Given the description of an element on the screen output the (x, y) to click on. 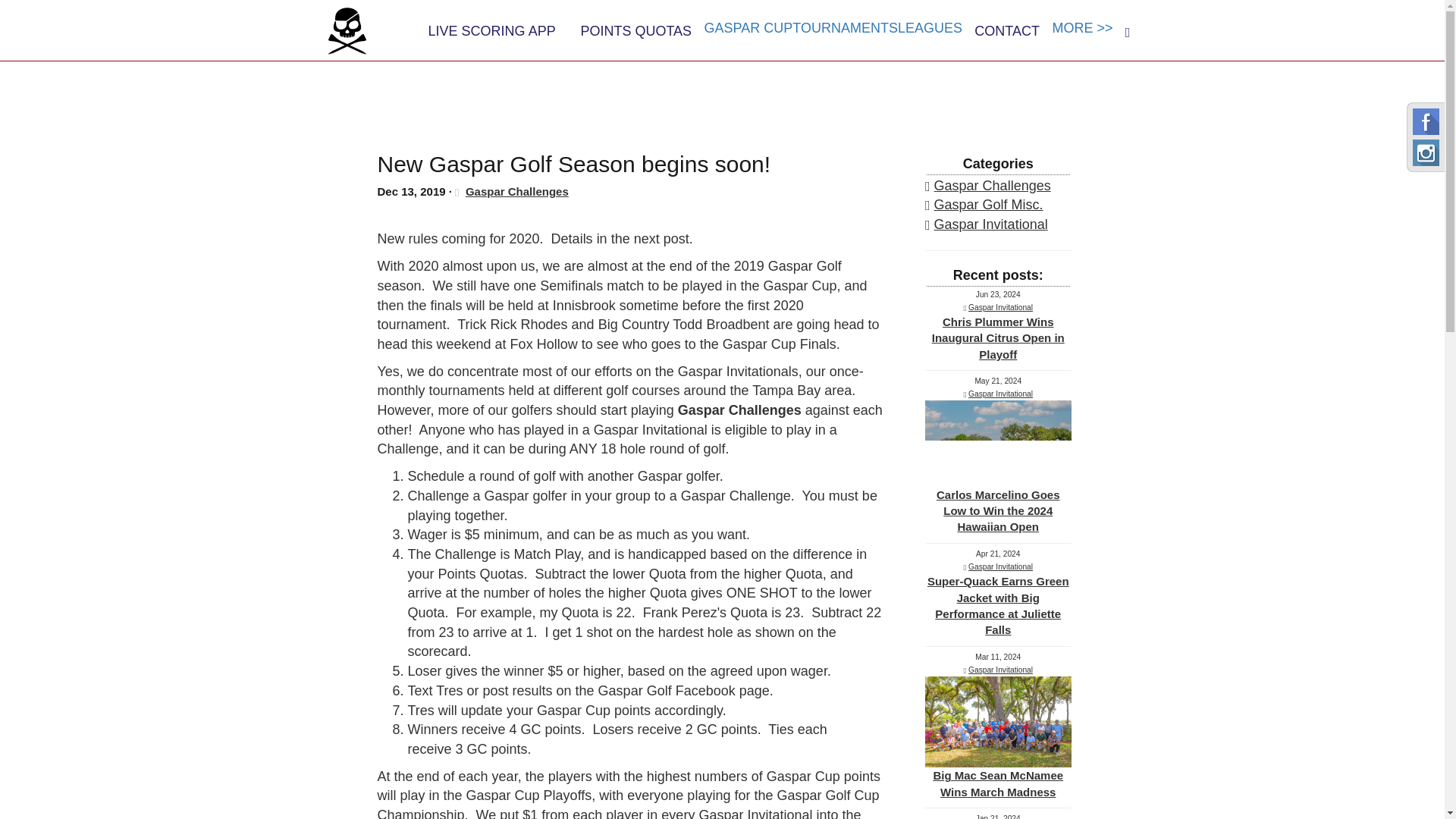
TOURNAMENTS (845, 28)
CONTACT (1006, 30)
Gaspar Invitational (991, 224)
LEAGUES (930, 28)
Gaspar Golf Misc. (988, 204)
Gaspar Challenges (992, 185)
POINTS QUOTAS (635, 30)
Gaspar Invitational (1000, 307)
LIVE SCORING APP (490, 30)
Gaspar Challenges (517, 191)
GASPAR CUP (748, 28)
